Given the description of an element on the screen output the (x, y) to click on. 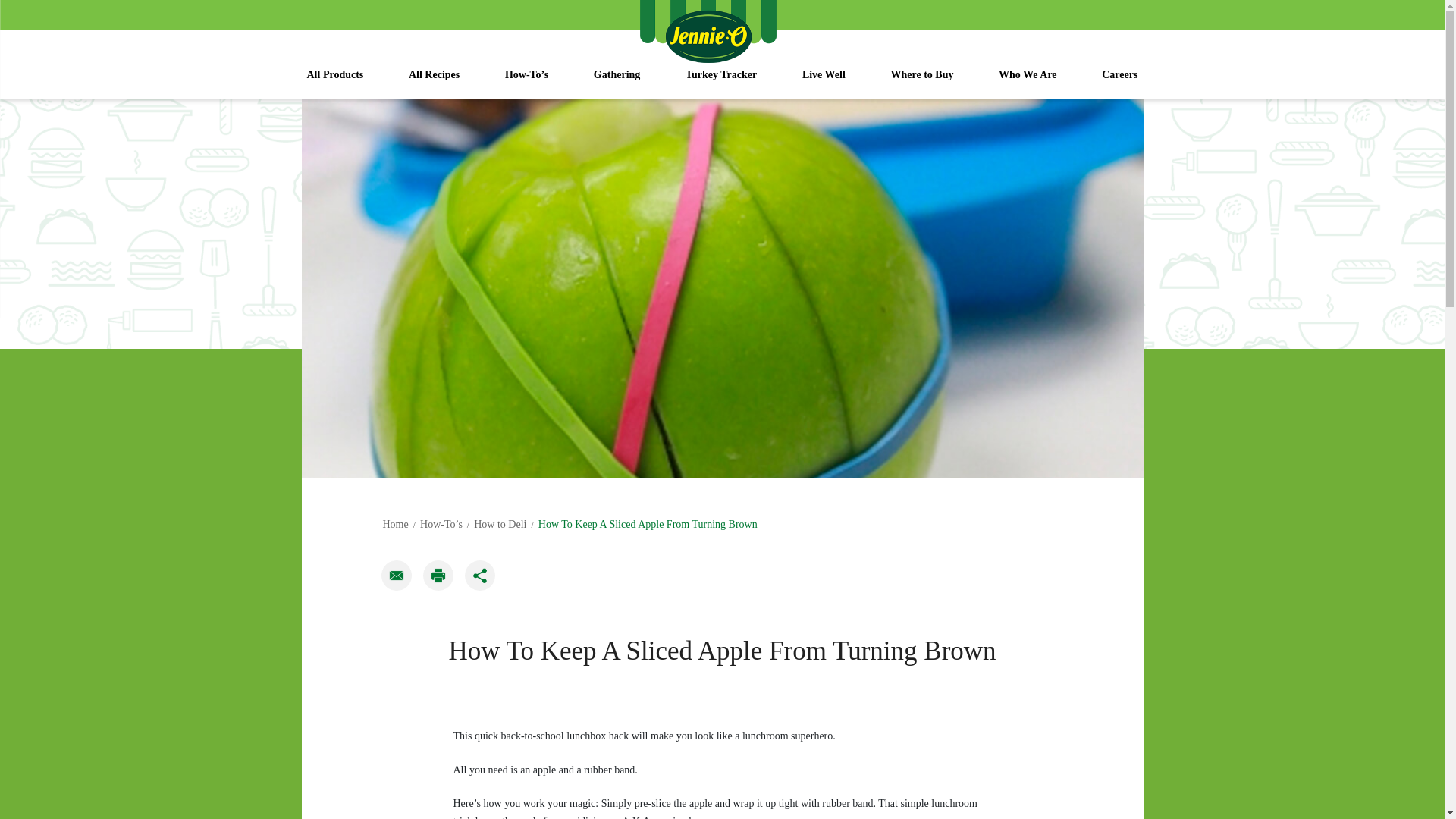
All Products (335, 82)
Who We Are (1027, 82)
How to Deli (499, 523)
Turkey Tracker (720, 82)
Gathering (616, 82)
Live Well (823, 82)
Where to Buy (921, 82)
Home (394, 523)
Where to Buy (921, 82)
Gathering (616, 82)
Live Well (823, 82)
Careers (1119, 82)
All Recipes (433, 82)
All Recipes (433, 82)
Turkey Tracker (720, 82)
